Given the description of an element on the screen output the (x, y) to click on. 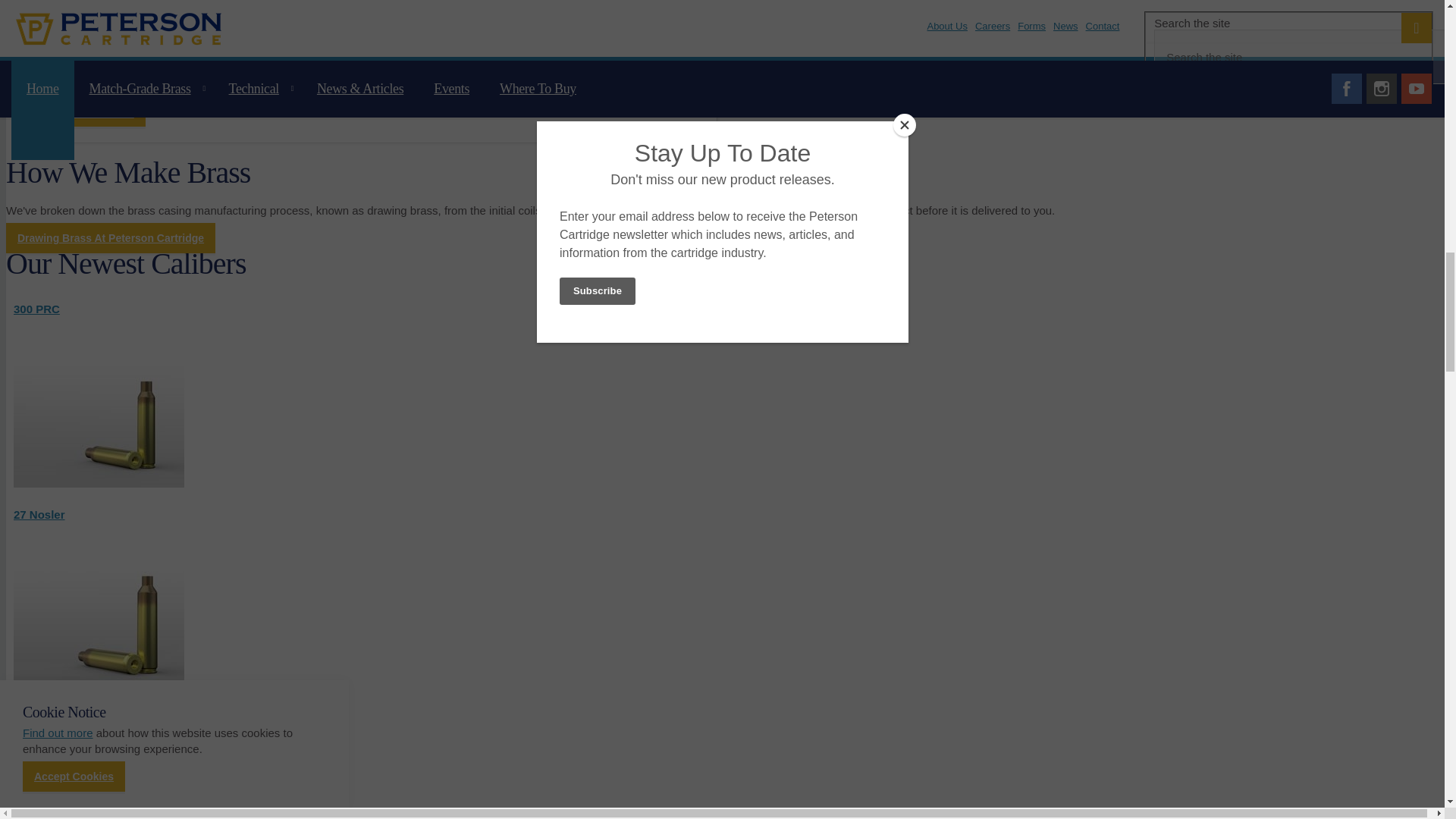
.300 PRC (36, 308)
7mm PRC (98, 766)
Drawing Brass (110, 237)
.300 PRC (98, 482)
Drawing Brass At Peterson Cartridge (110, 237)
27 Nosler (98, 601)
7 PRC (98, 766)
Technical Information (87, 112)
Technical Information (367, 26)
300 PRC (36, 308)
